Given the description of an element on the screen output the (x, y) to click on. 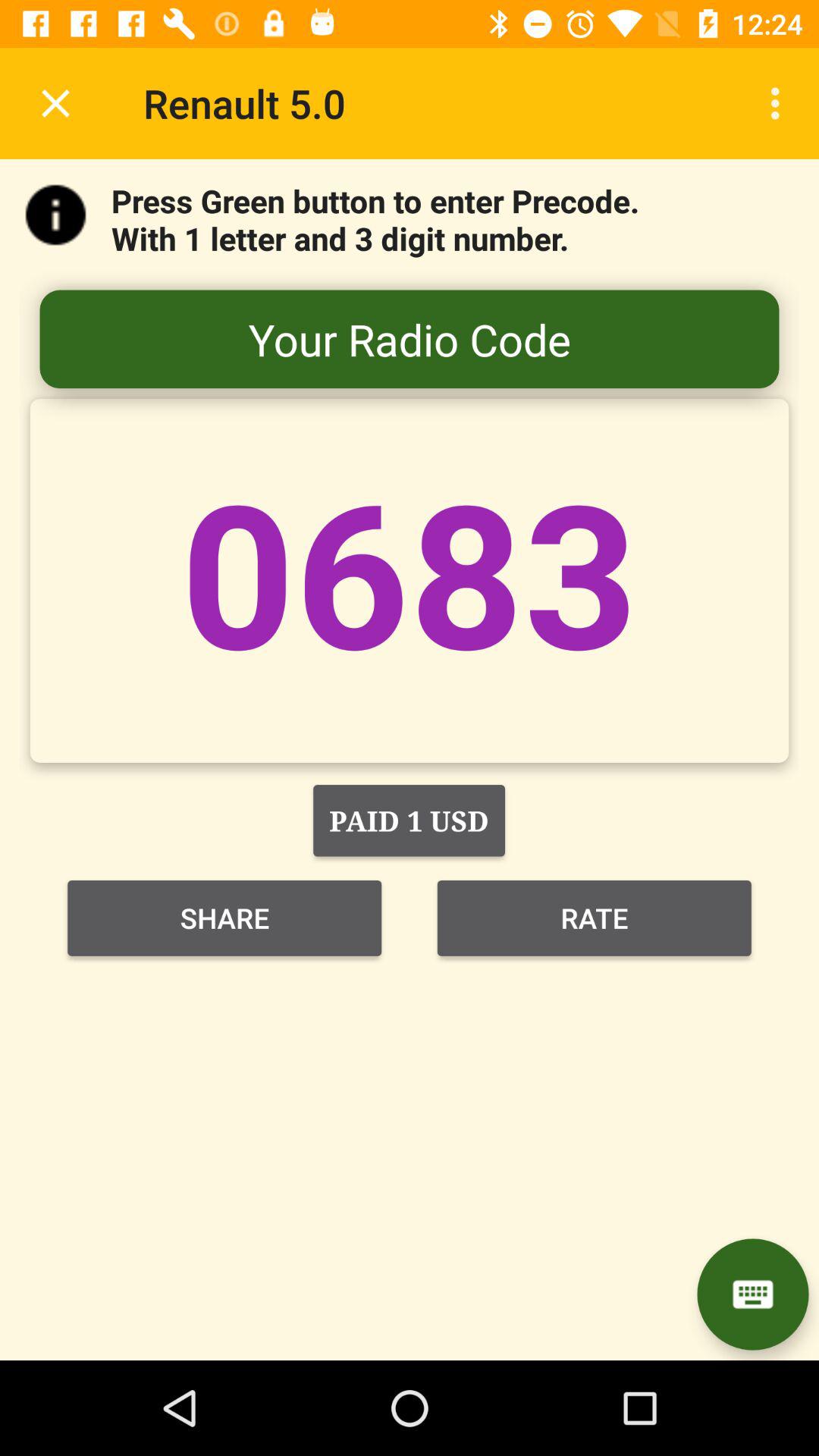
flip to the share (224, 918)
